Given the description of an element on the screen output the (x, y) to click on. 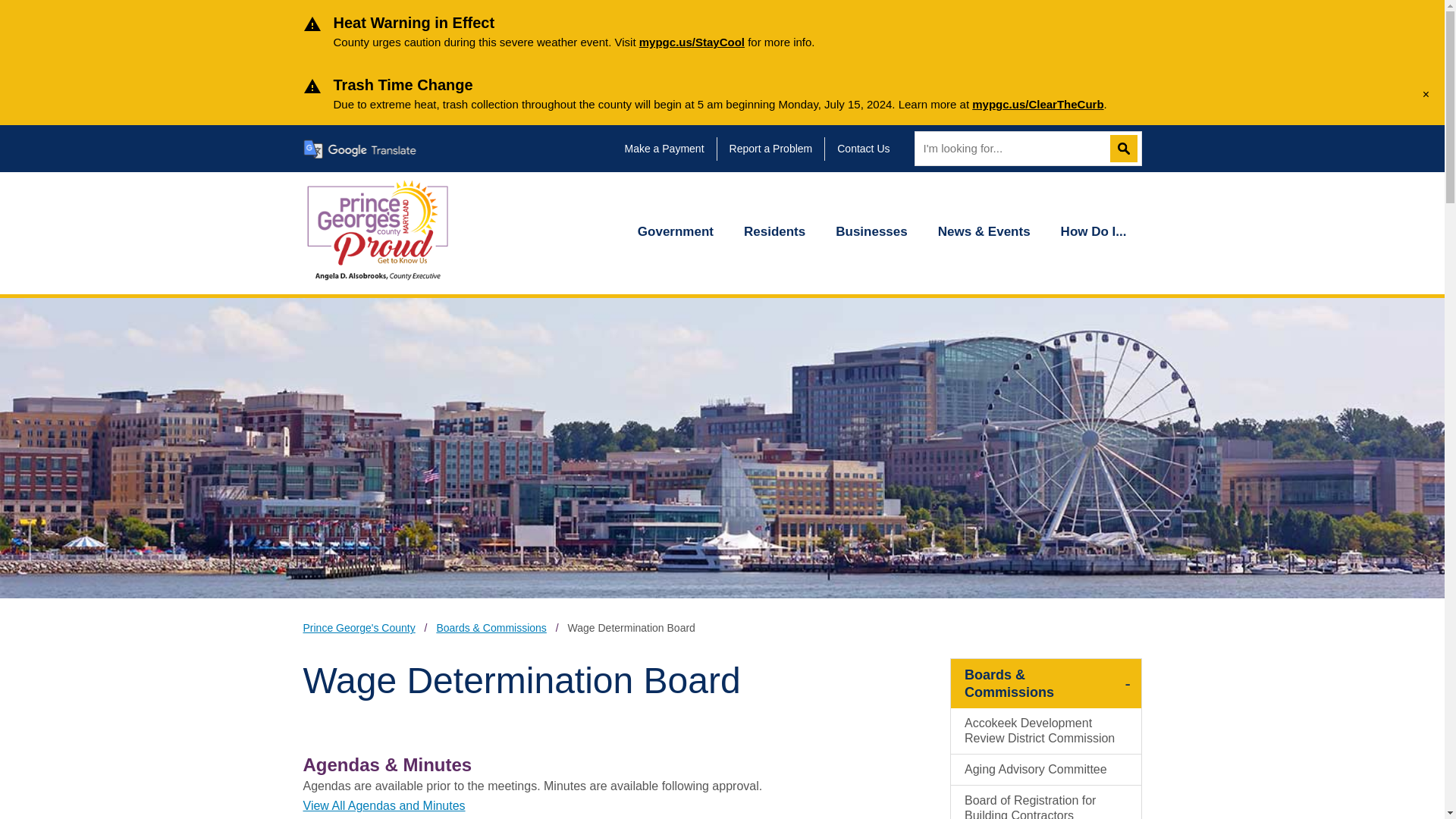
Make a Payment (670, 147)
Extreme Heat (691, 42)
Report a Problem (777, 147)
Translate this page - Desktop (359, 148)
Search (1123, 148)
Contact Us (869, 147)
Government (676, 233)
